Given the description of an element on the screen output the (x, y) to click on. 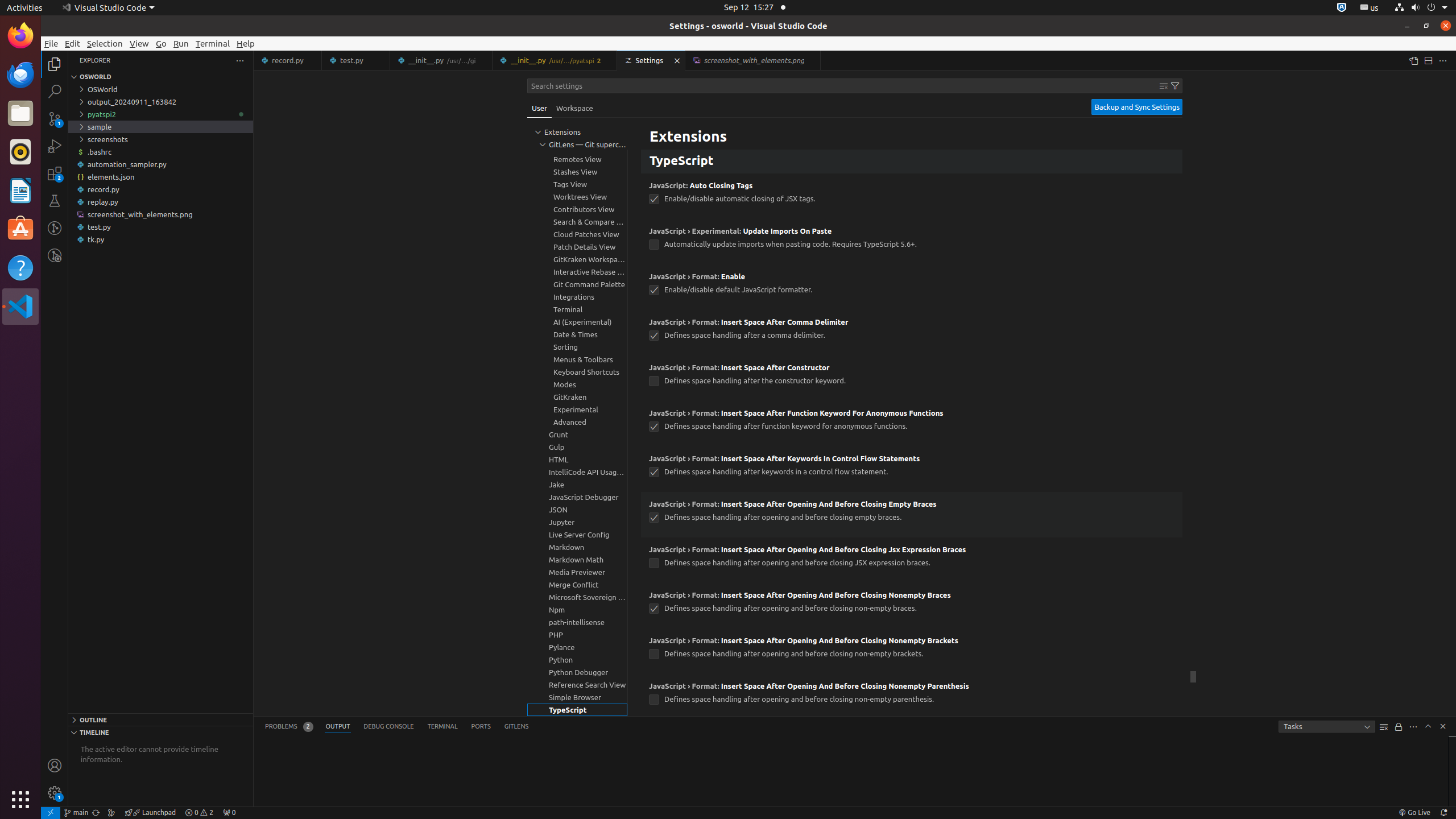
Tags View, group Element type: tree-item (577, 184)
record.py Element type: tree-item (160, 189)
rocket gitlens-unplug Launchpad, GitLens Launchpad ᴘʀᴇᴠɪᴇᴡ    &mdash;    [$(question)](command:gitlens.launchpad.indicator.action?%22info%22 "What is this?") [$(gear)](command:workbench.action.openSettings?%22gitlens.launchpad%22 "Settings")  |  [$(circle-slash) Hide](command:gitlens.launchpad.indicator.action?%22hide%22 "Hide") --- [Launchpad](command:gitlens.launchpad.indicator.action?%info%22 "Learn about Launchpad") organizes your pull requests into actionable groups to help you focus and keep your team unblocked. It's always accessible using the `GitLens: Open Launchpad` command from the Command Palette. --- [Connect an integration](command:gitlens.showLaunchpad?%7B%22source%22%3A%22launchpad-indicator%22%7D "Connect an integration") to get started. Element type: push-button (150, 812)
Ports Element type: page-tab (480, 726)
